Given the description of an element on the screen output the (x, y) to click on. 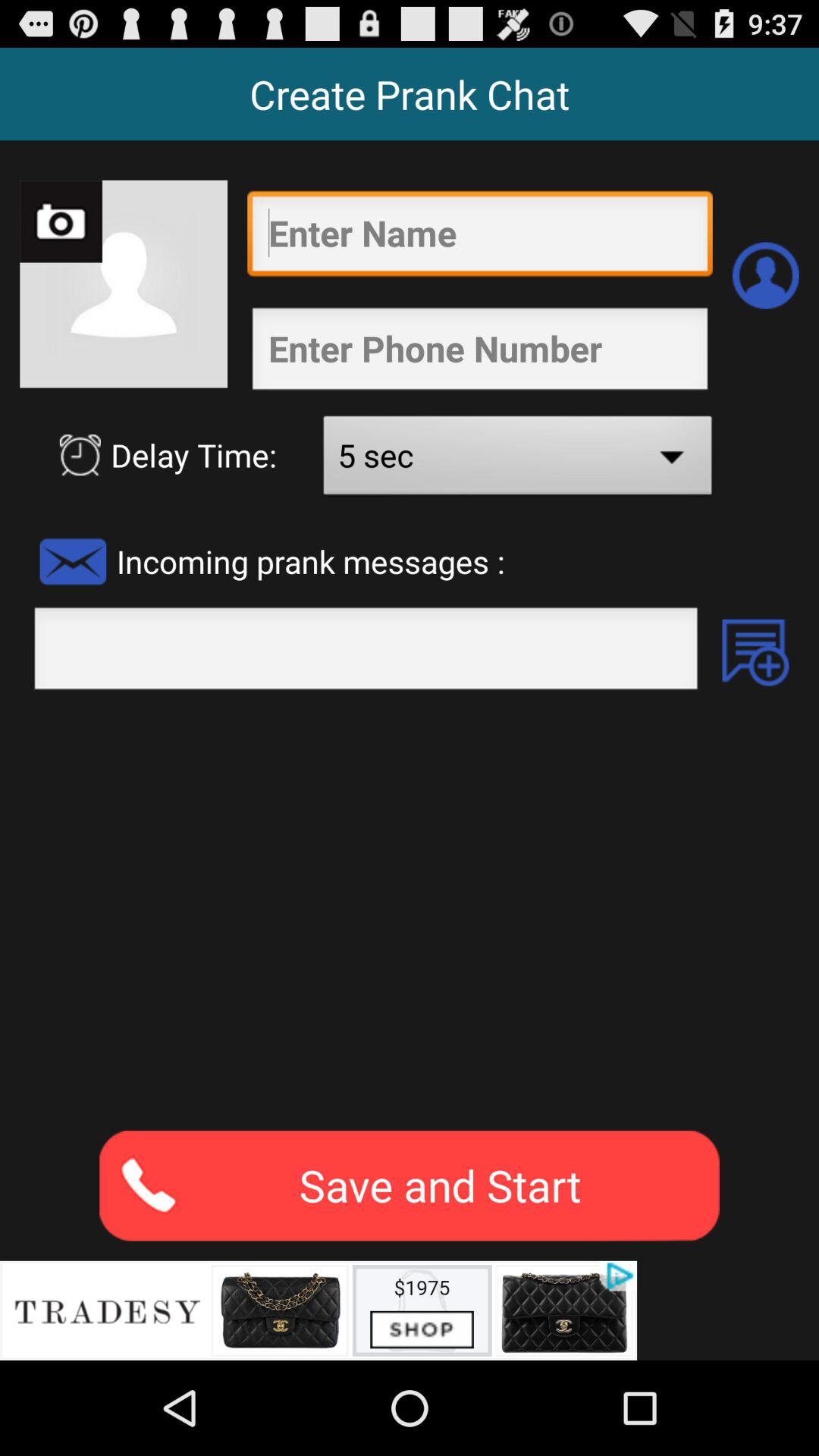
advertisements (318, 1310)
